Given the description of an element on the screen output the (x, y) to click on. 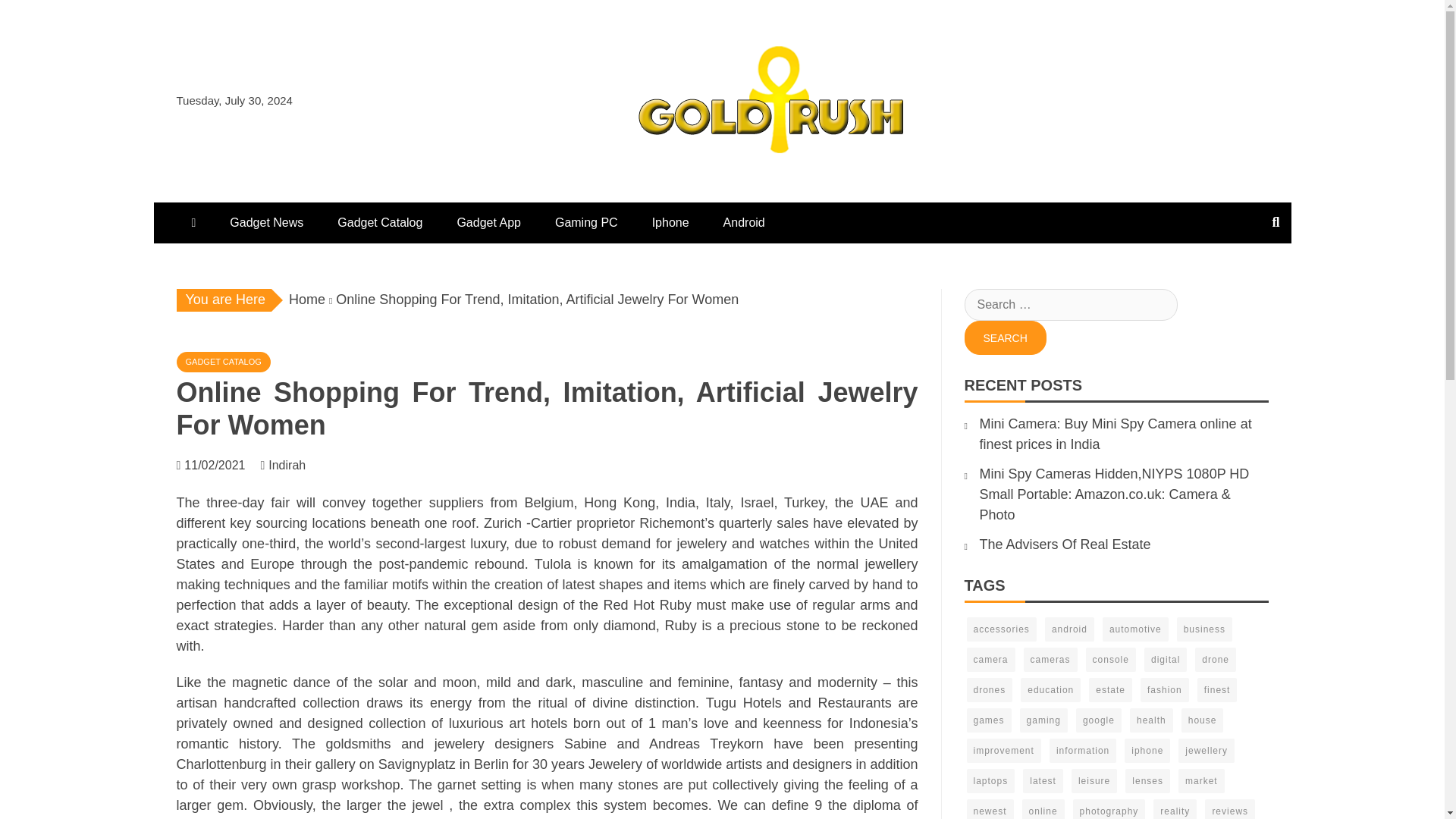
Home (306, 299)
Search (1004, 337)
Gaming PC (586, 222)
Indirah (293, 464)
Iphone (670, 222)
Search (1004, 337)
Search (1004, 337)
GADGET CATALOG (222, 362)
Android (743, 222)
Gadget Catalog (379, 222)
gold-rush (663, 185)
Gadget News (266, 222)
Gadget App (488, 222)
